Given the description of an element on the screen output the (x, y) to click on. 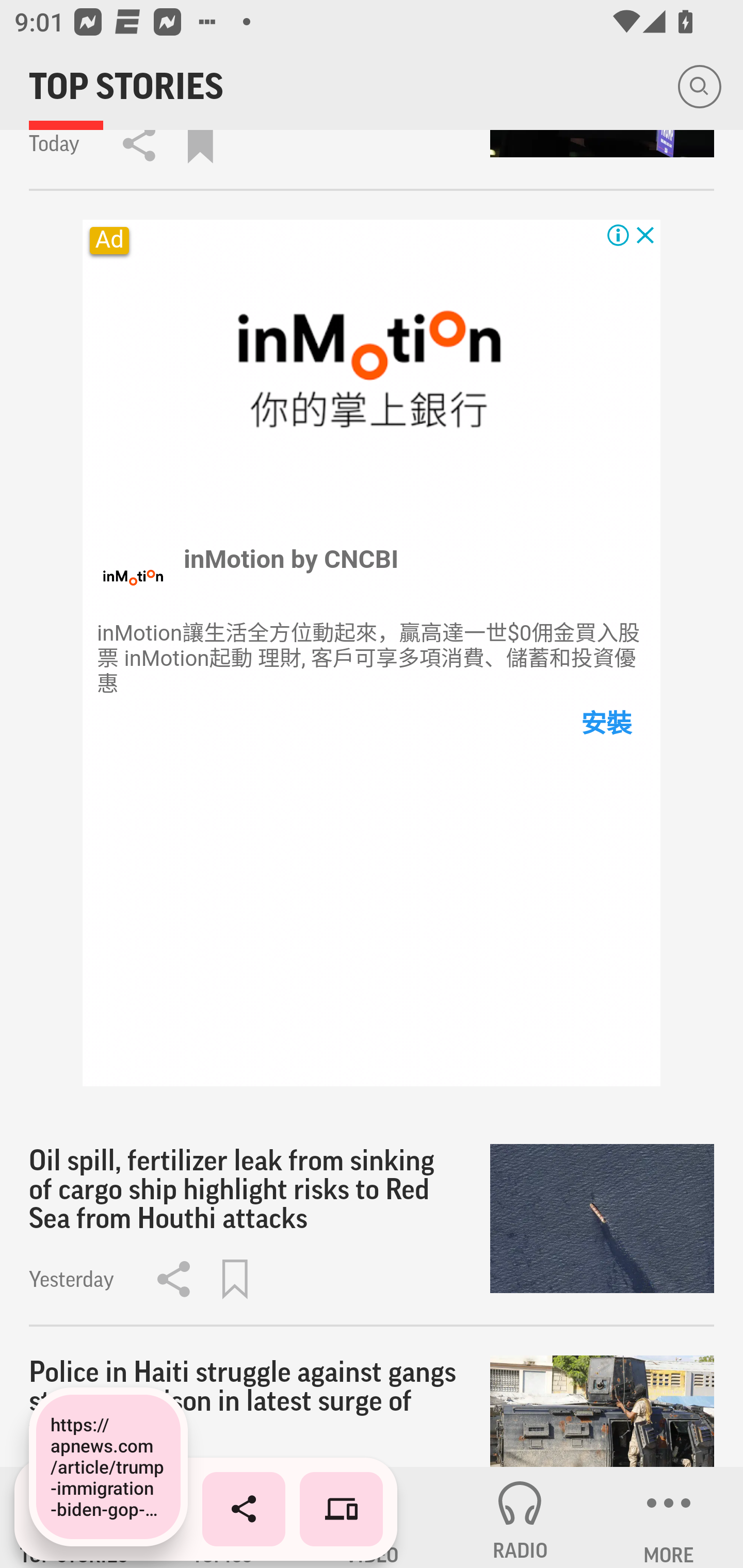
inMotion by CNCBI (291, 558)
安裝 (604, 723)
TOPICS (222, 1517)
VIDEO (371, 1517)
RADIO (519, 1517)
MORE (668, 1517)
